Given the description of an element on the screen output the (x, y) to click on. 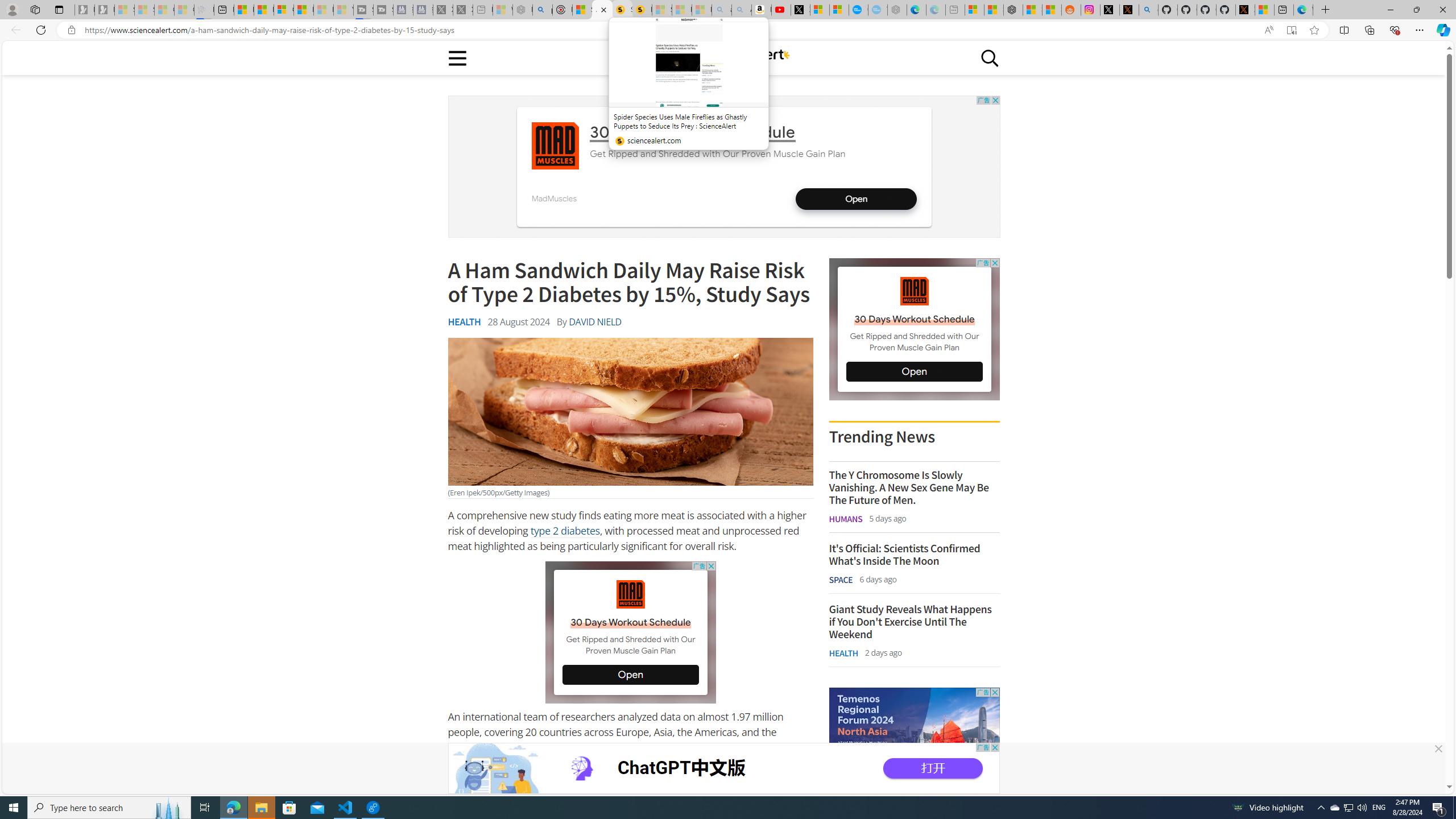
New tab - Sleeping (954, 9)
poe - Search (542, 9)
Class: sciencealert-search-desktop-svg  (989, 57)
Streaming Coverage | T3 - Sleeping (362, 9)
App bar (728, 29)
X (800, 9)
Opinion: Op-Ed and Commentary - USA TODAY (858, 9)
